Given the description of an element on the screen output the (x, y) to click on. 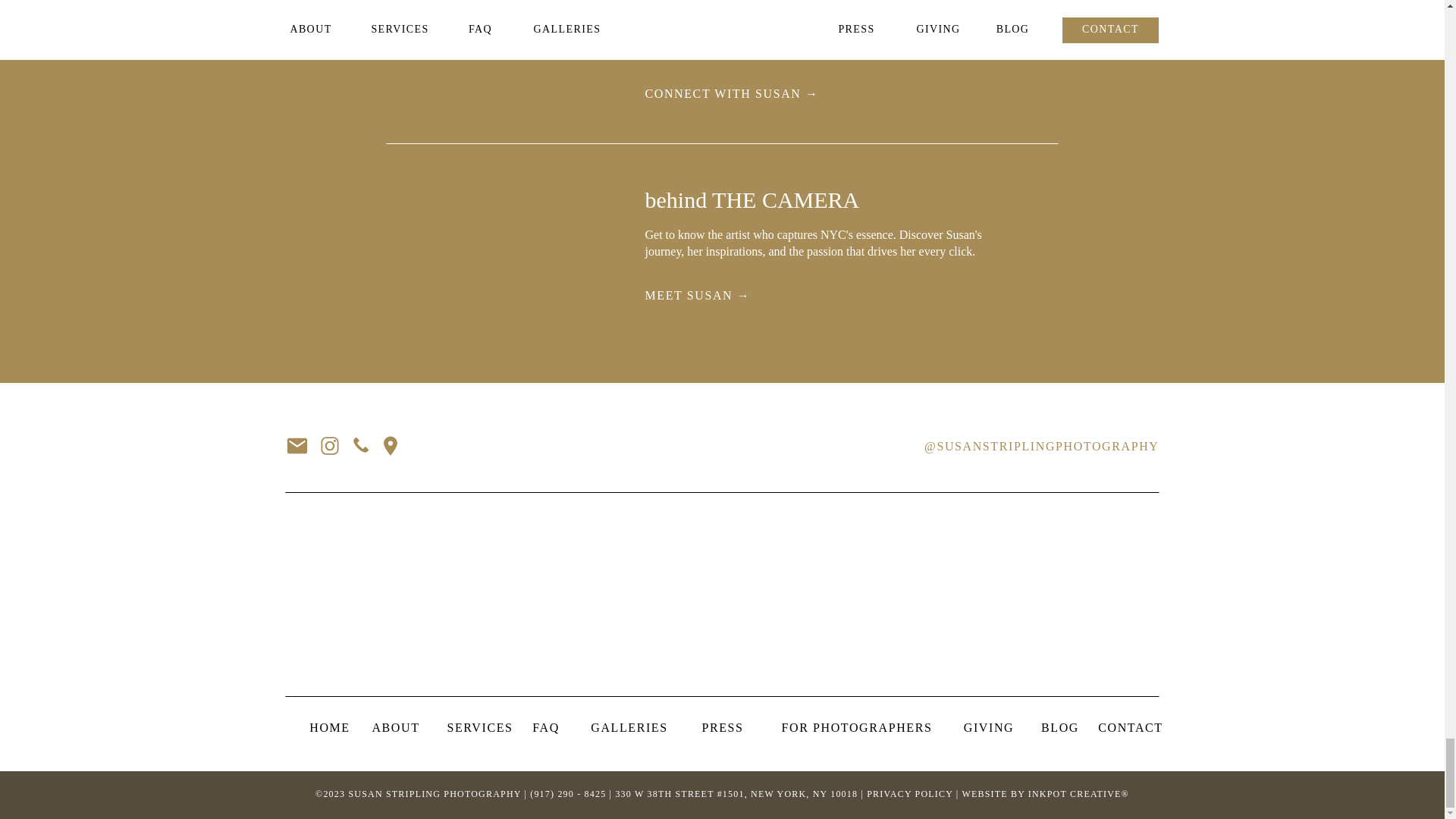
CONTACT (1130, 728)
PRIVACY POLICY (909, 793)
HOME (329, 728)
GALLERIES (629, 728)
ABOUT (396, 728)
SERVICES (479, 728)
PRESS (722, 728)
FAQ (546, 728)
GIVING (988, 728)
BLOG (1060, 728)
